Given the description of an element on the screen output the (x, y) to click on. 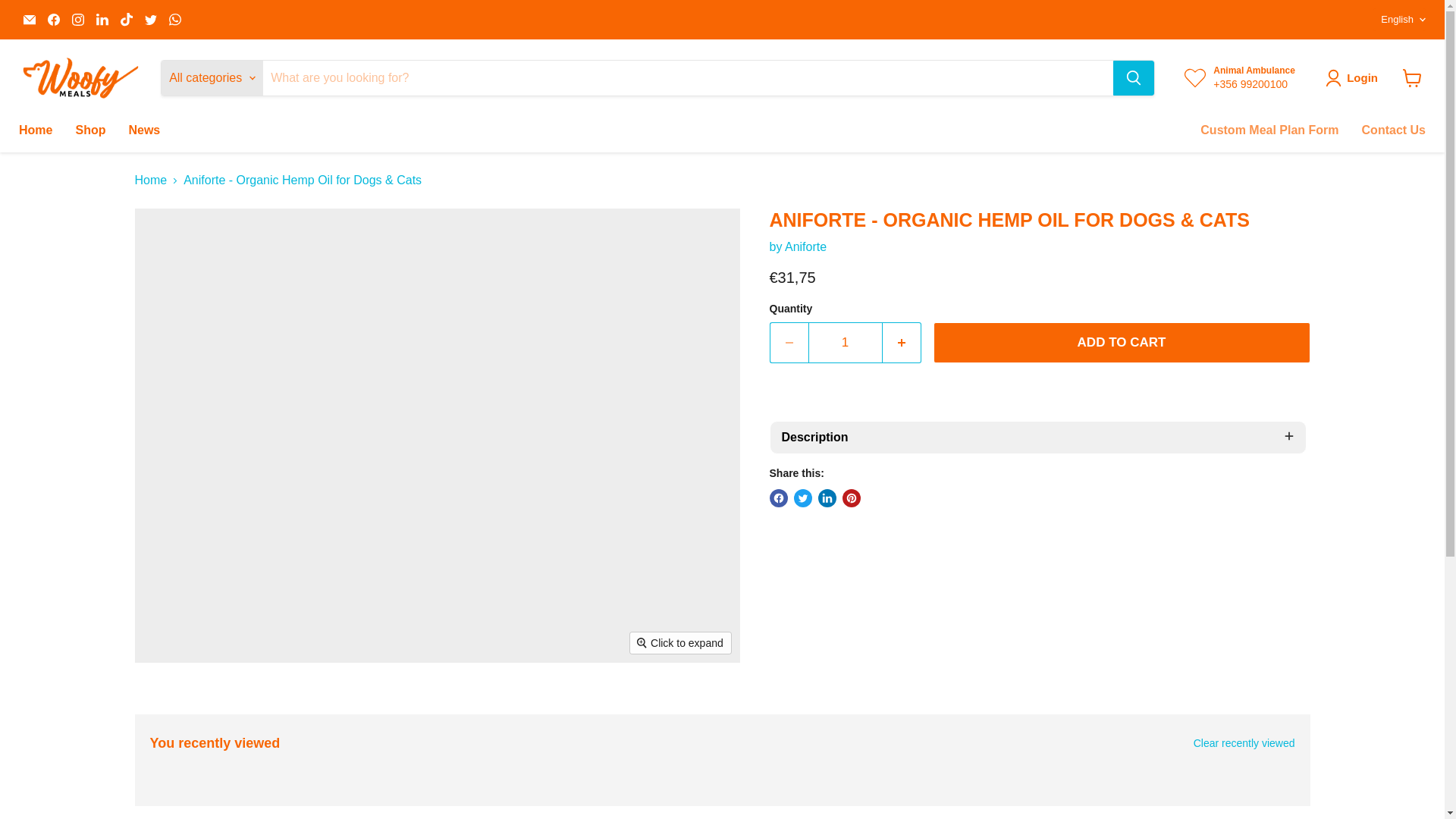
Login (1354, 77)
TikTok (126, 19)
Aniforte (805, 246)
Find us on Twitter (150, 19)
View cart (1411, 78)
Find us on Facebook (53, 19)
Custom Meal Plan Form (1269, 130)
Email (29, 19)
Facebook (53, 19)
News (143, 130)
